Given the description of an element on the screen output the (x, y) to click on. 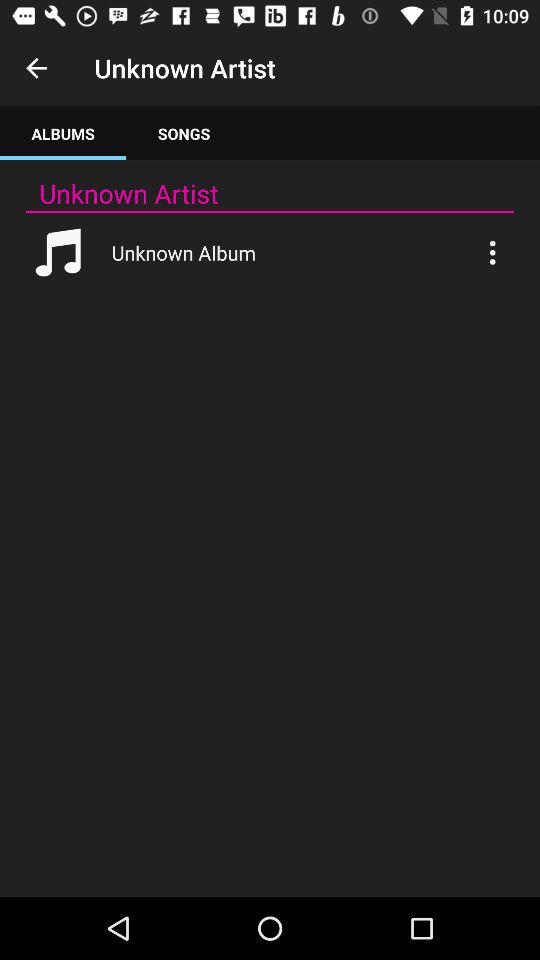
choose the icon above unknown artist (183, 133)
